Given the description of an element on the screen output the (x, y) to click on. 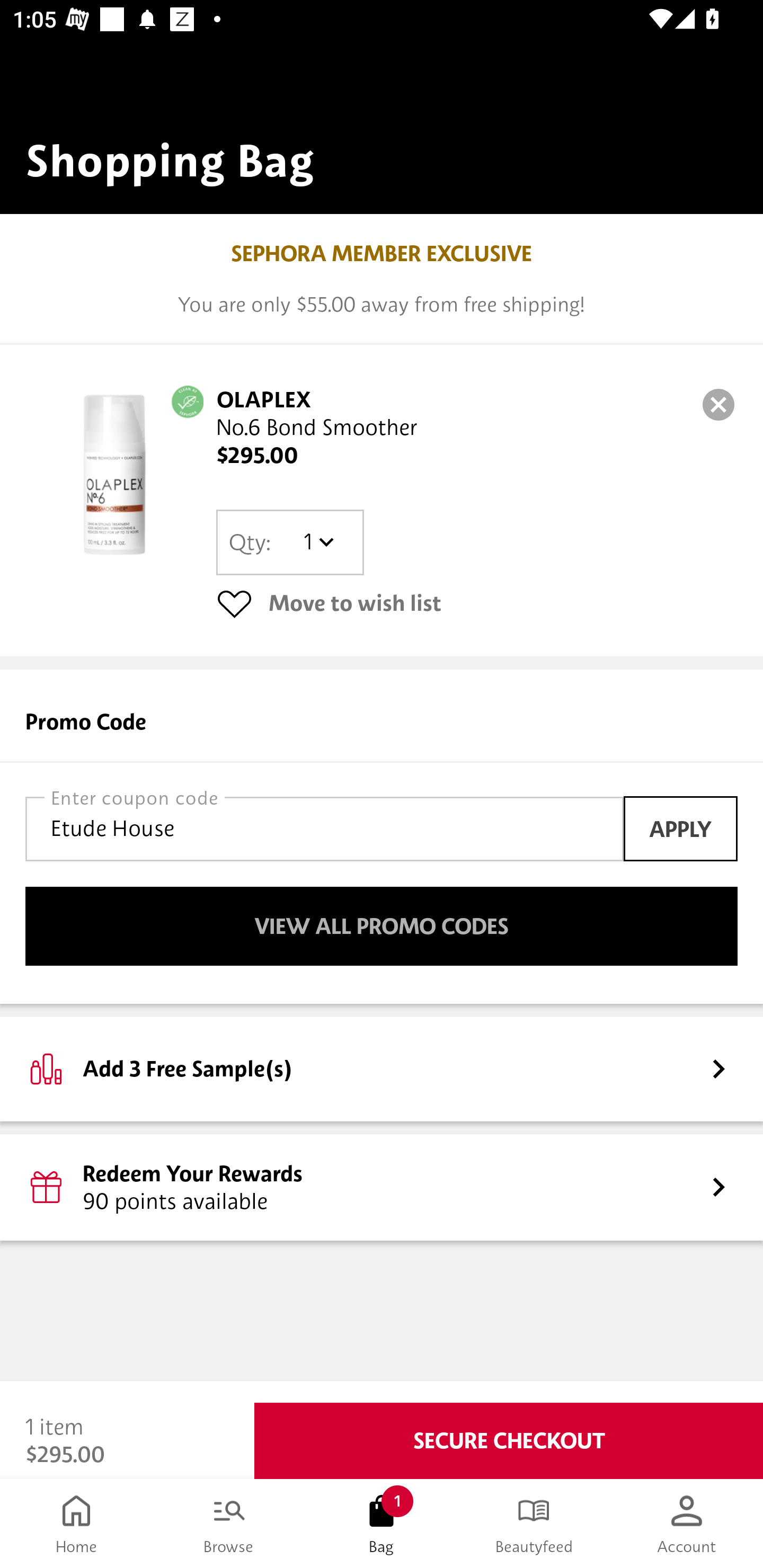
1 (317, 542)
Move to wish list (476, 602)
Promo Code Etude House APPLY VIEW ALL PROMO CODES (381, 836)
APPLY (680, 828)
Etude House (324, 828)
VIEW ALL PROMO CODES (381, 926)
Add 3 Free Sample(s) (381, 1068)
Redeem Your Rewards 90 points available (381, 1186)
SECURE CHECKOUT (508, 1440)
Home (76, 1523)
Browse (228, 1523)
Beautyfeed (533, 1523)
Account (686, 1523)
